Given the description of an element on the screen output the (x, y) to click on. 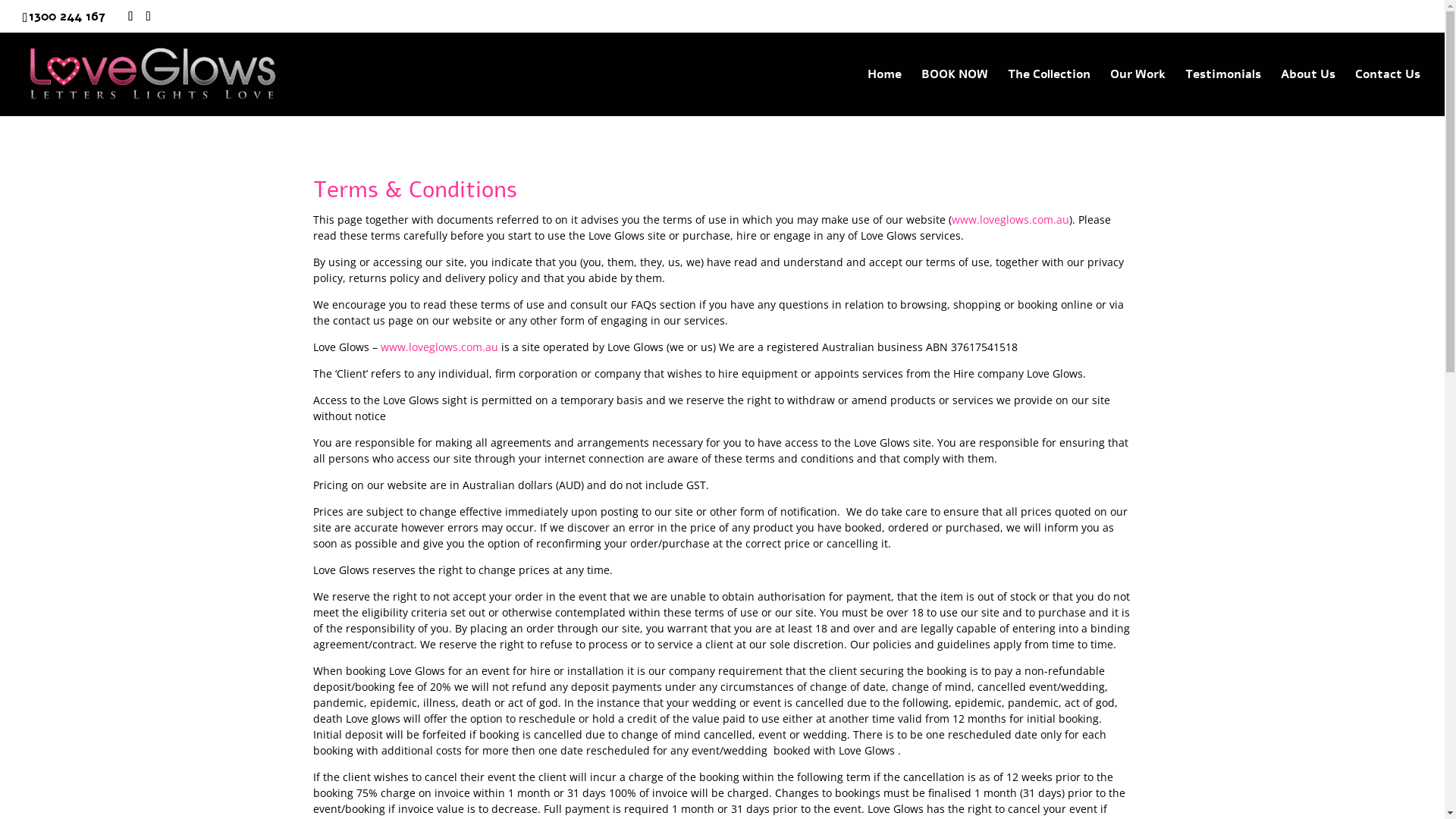
www.loveglows.com.au Element type: text (1009, 219)
About Us Element type: text (1307, 91)
The Collection Element type: text (1048, 91)
www.loveglows.com.au Element type: text (439, 346)
Testimonials Element type: text (1223, 91)
Our Work Element type: text (1137, 91)
Contact Us Element type: text (1387, 91)
1300 244 167 Element type: text (66, 16)
BOOK NOW Element type: text (954, 91)
Home Element type: text (884, 91)
